Given the description of an element on the screen output the (x, y) to click on. 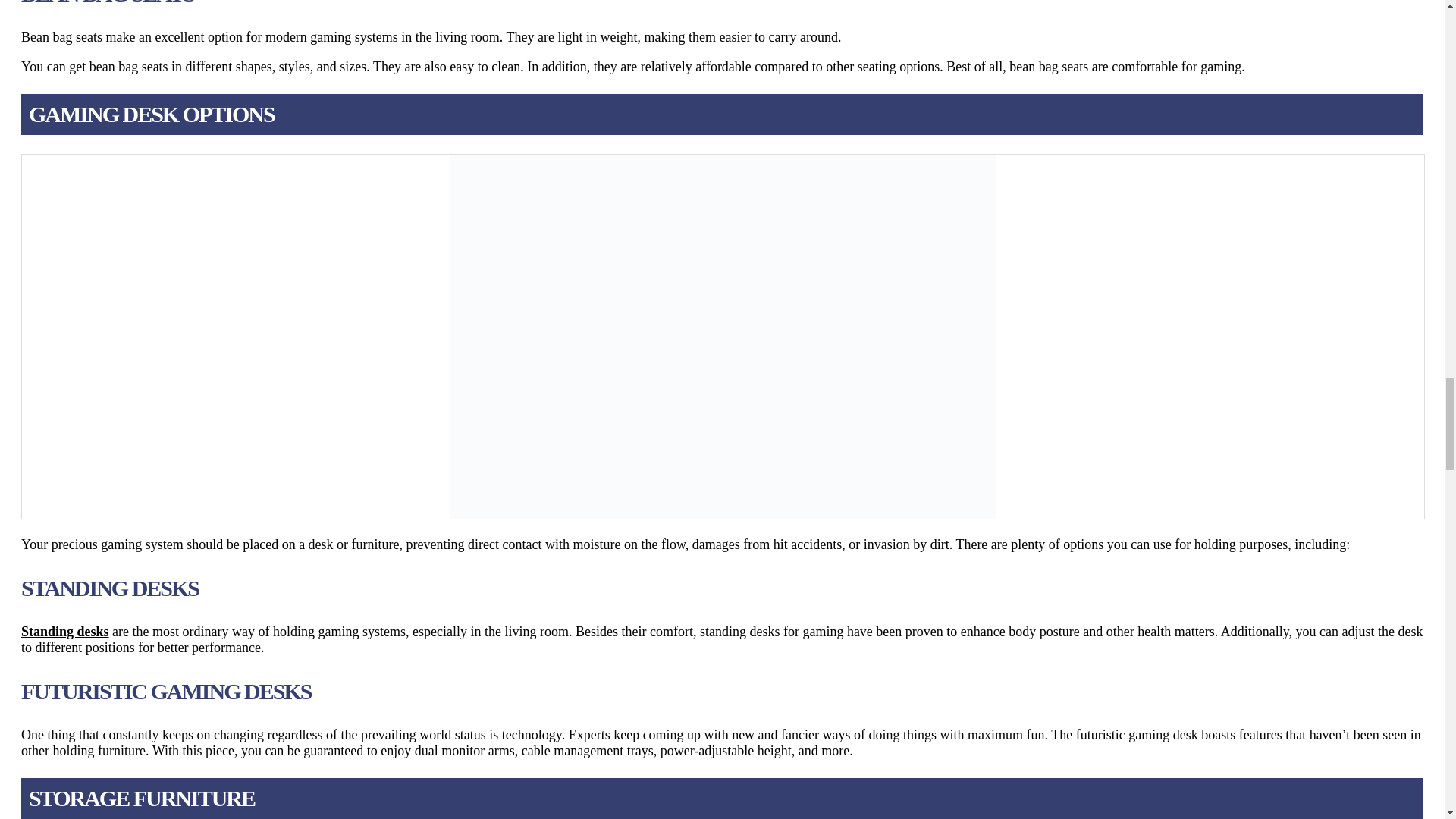
Standing desks (65, 631)
